Given the description of an element on the screen output the (x, y) to click on. 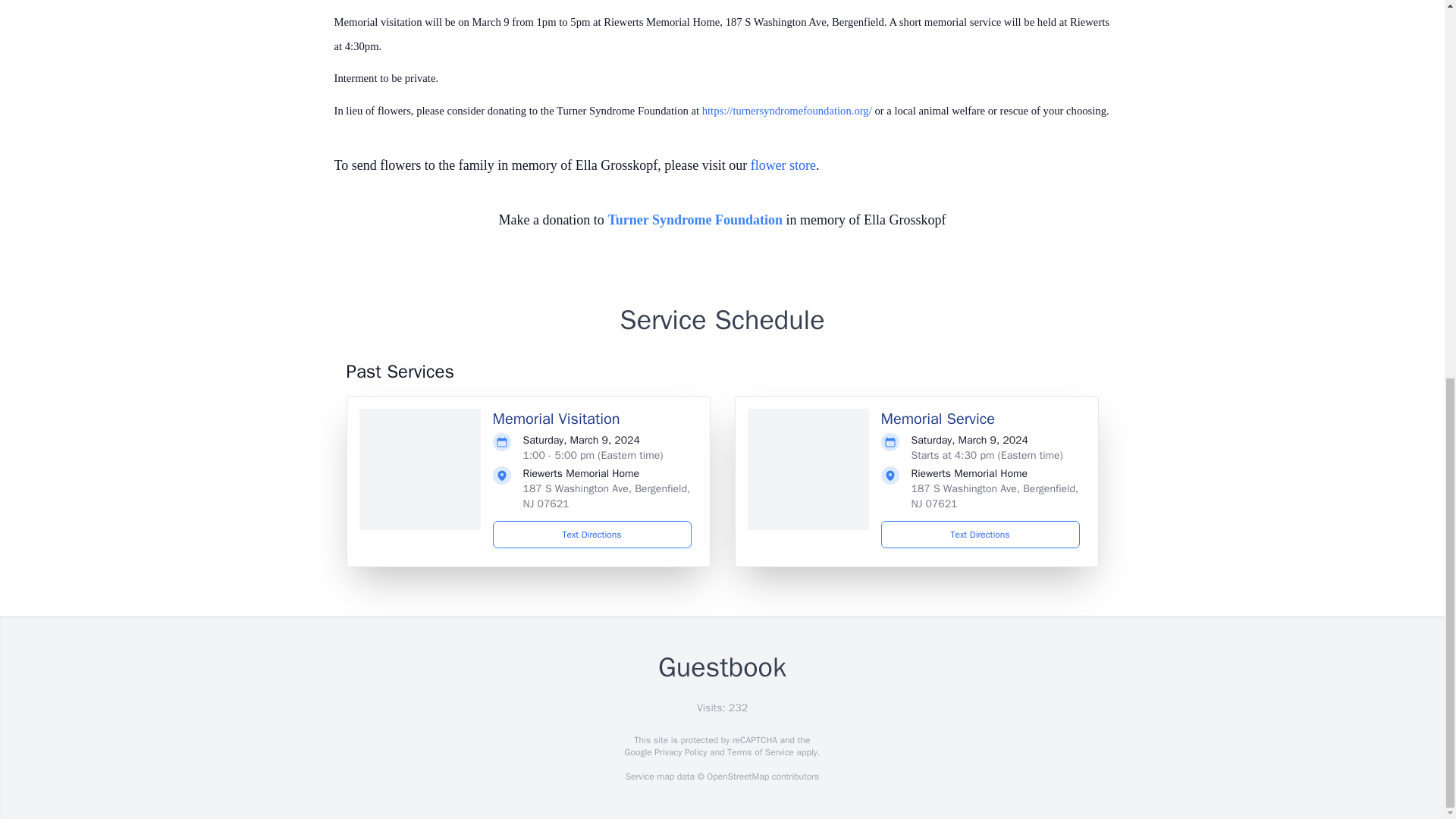
187 S Washington Ave, Bergenfield, NJ 07621 (606, 496)
Text Directions (592, 533)
OpenStreetMap (737, 776)
187 S Washington Ave, Bergenfield, NJ 07621 (994, 496)
flower store (783, 165)
Text Directions (980, 533)
Privacy Policy (679, 752)
Terms of Service (759, 752)
